Given the description of an element on the screen output the (x, y) to click on. 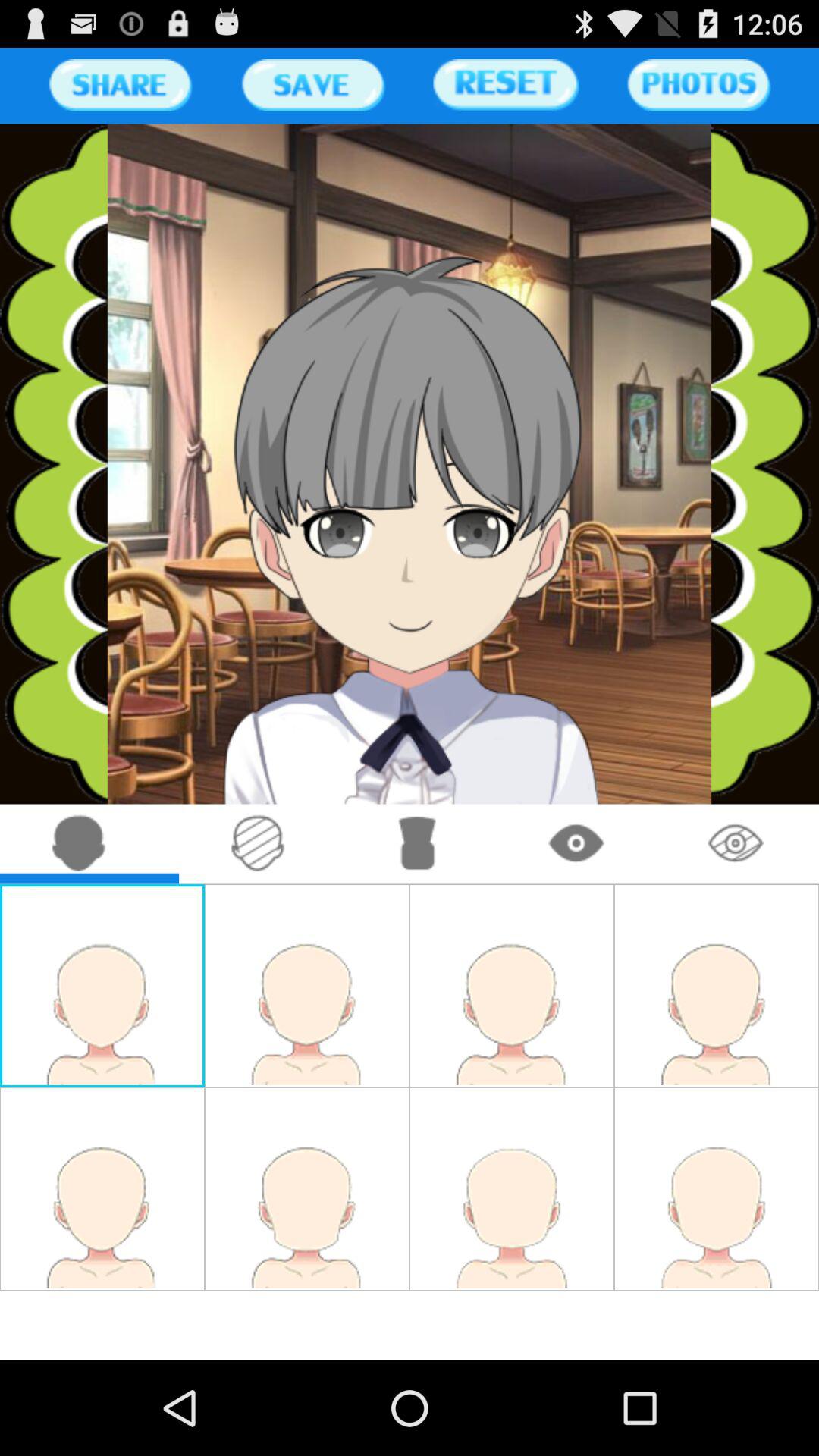
go to reset (505, 85)
